Given the description of an element on the screen output the (x, y) to click on. 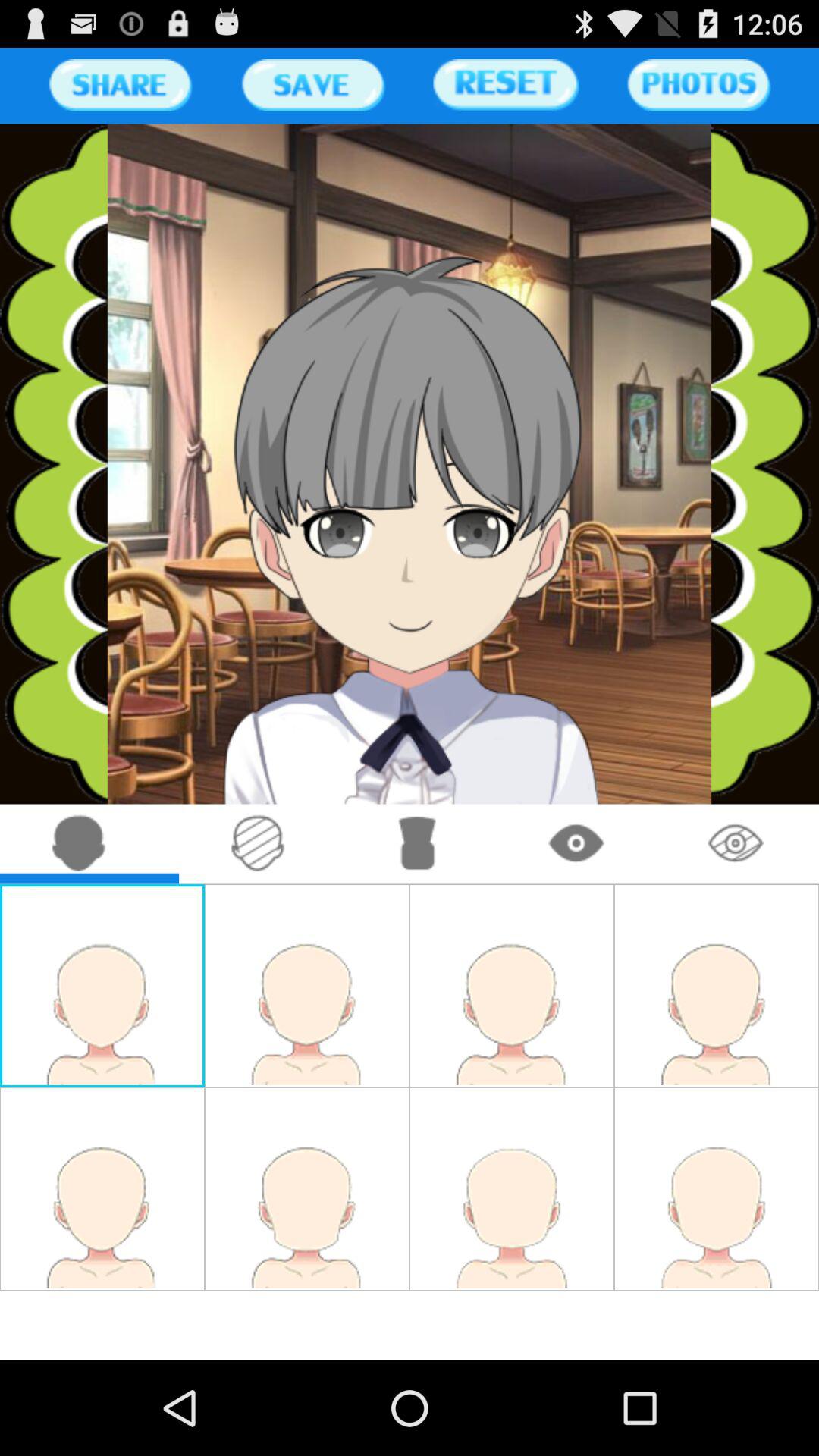
go to reset (505, 85)
